Given the description of an element on the screen output the (x, y) to click on. 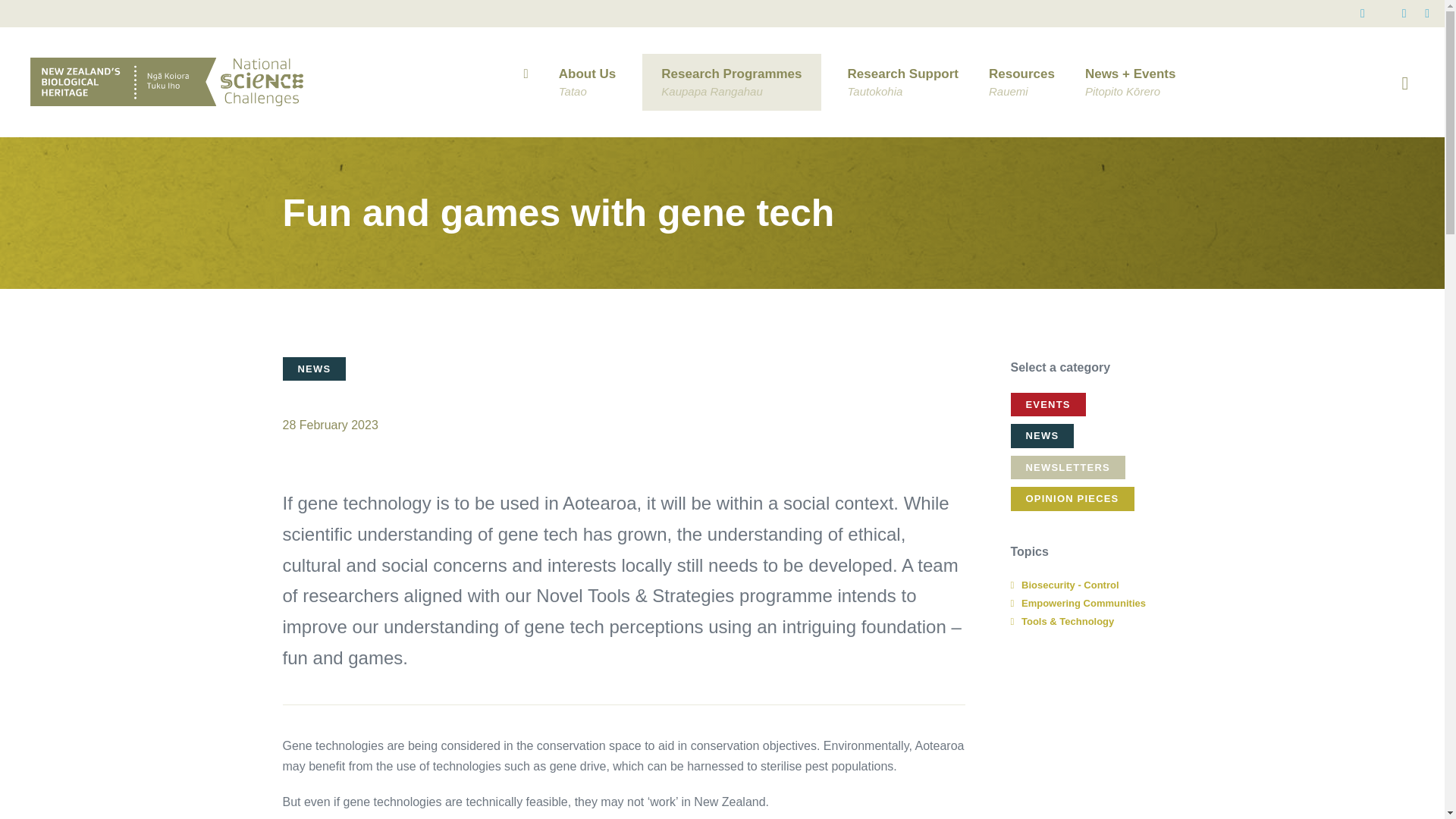
Biological Heritage Flipped (587, 82)
